Given the description of an element on the screen output the (x, y) to click on. 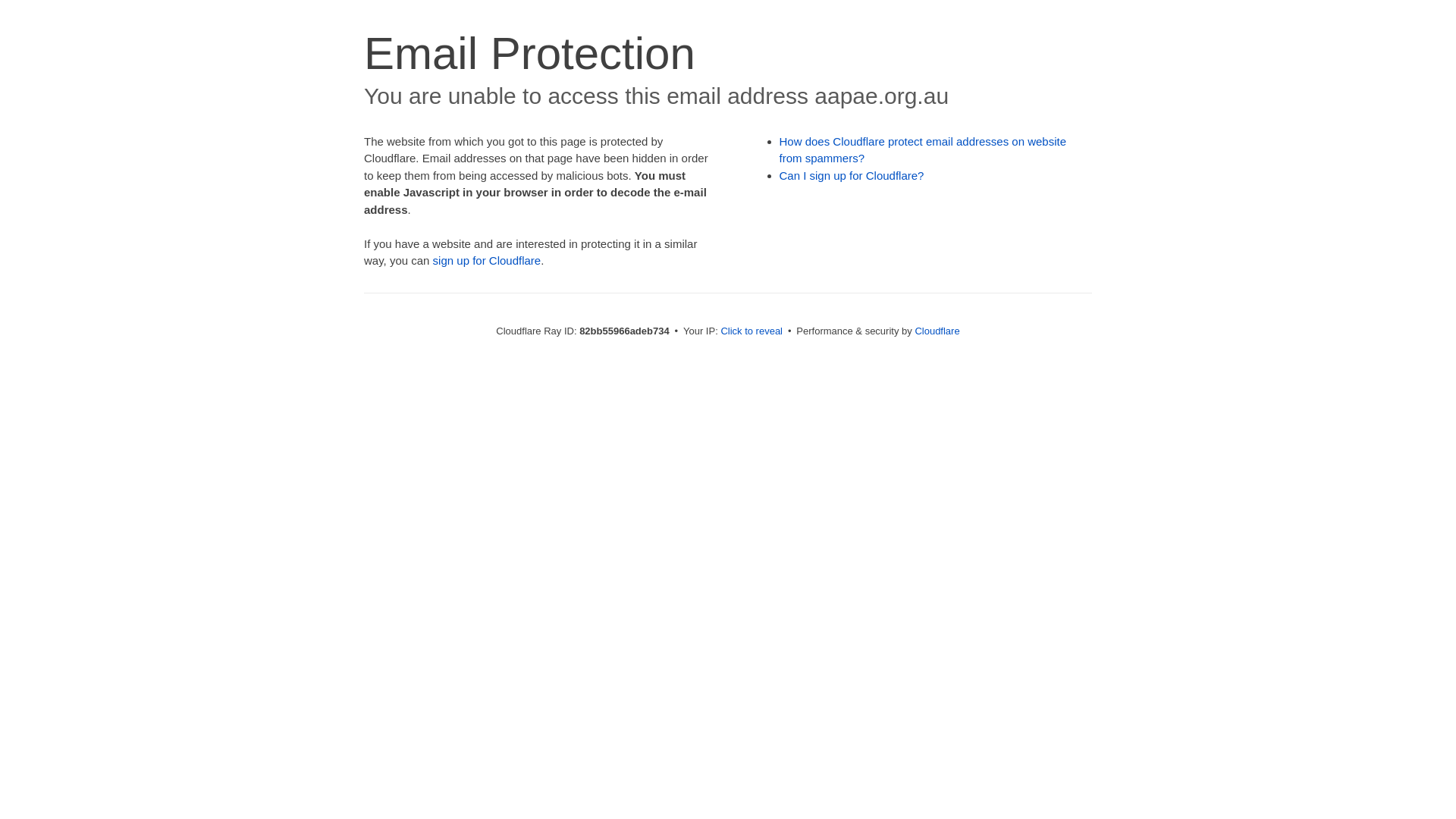
Click to reveal Element type: text (751, 330)
Can I sign up for Cloudflare? Element type: text (851, 175)
sign up for Cloudflare Element type: text (487, 260)
Cloudflare Element type: text (936, 330)
